Given the description of an element on the screen output the (x, y) to click on. 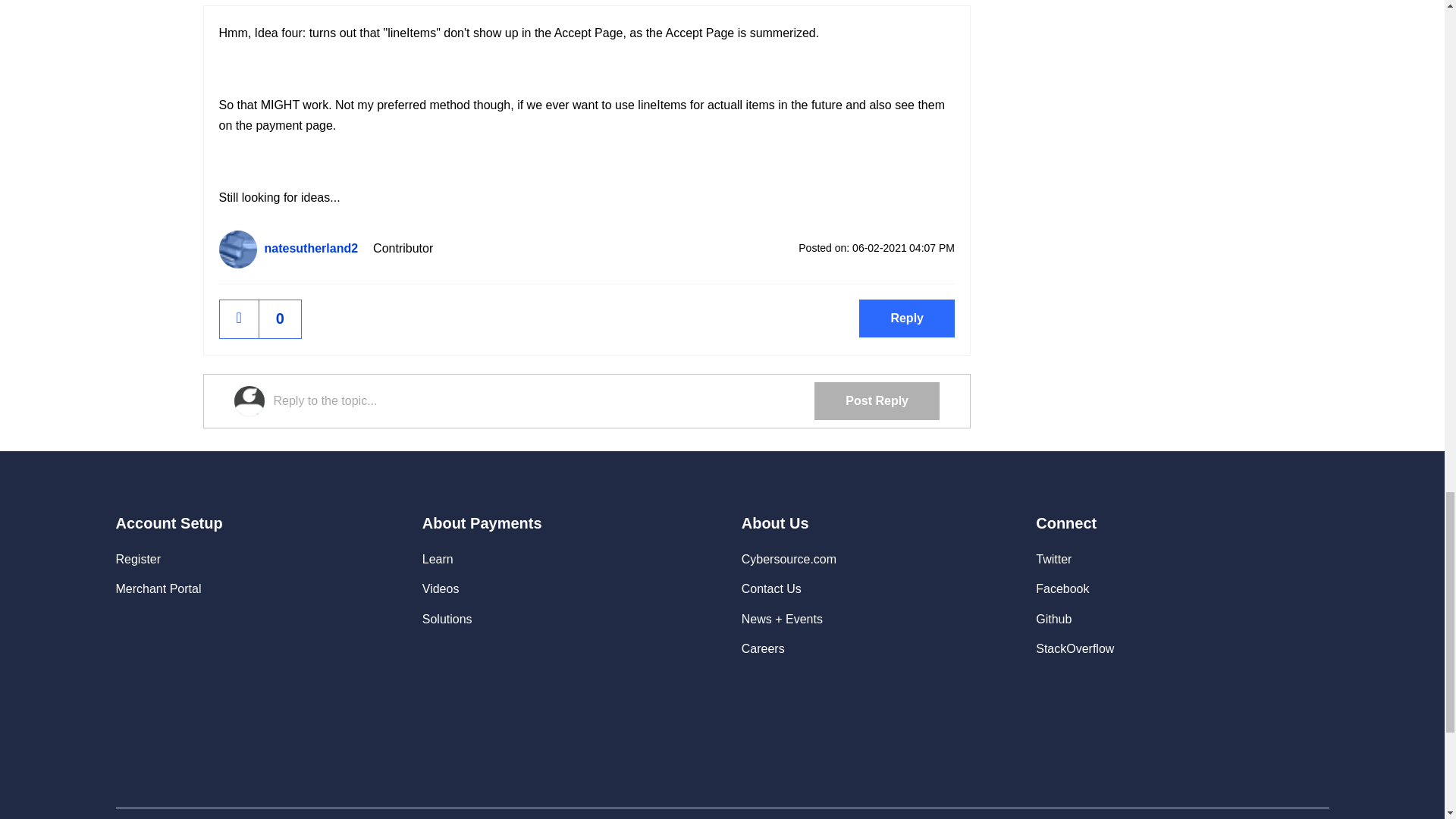
The total number of kudos this post has received. (280, 318)
natesutherland2 (237, 249)
Click here to give kudos to this post. (239, 318)
